Given the description of an element on the screen output the (x, y) to click on. 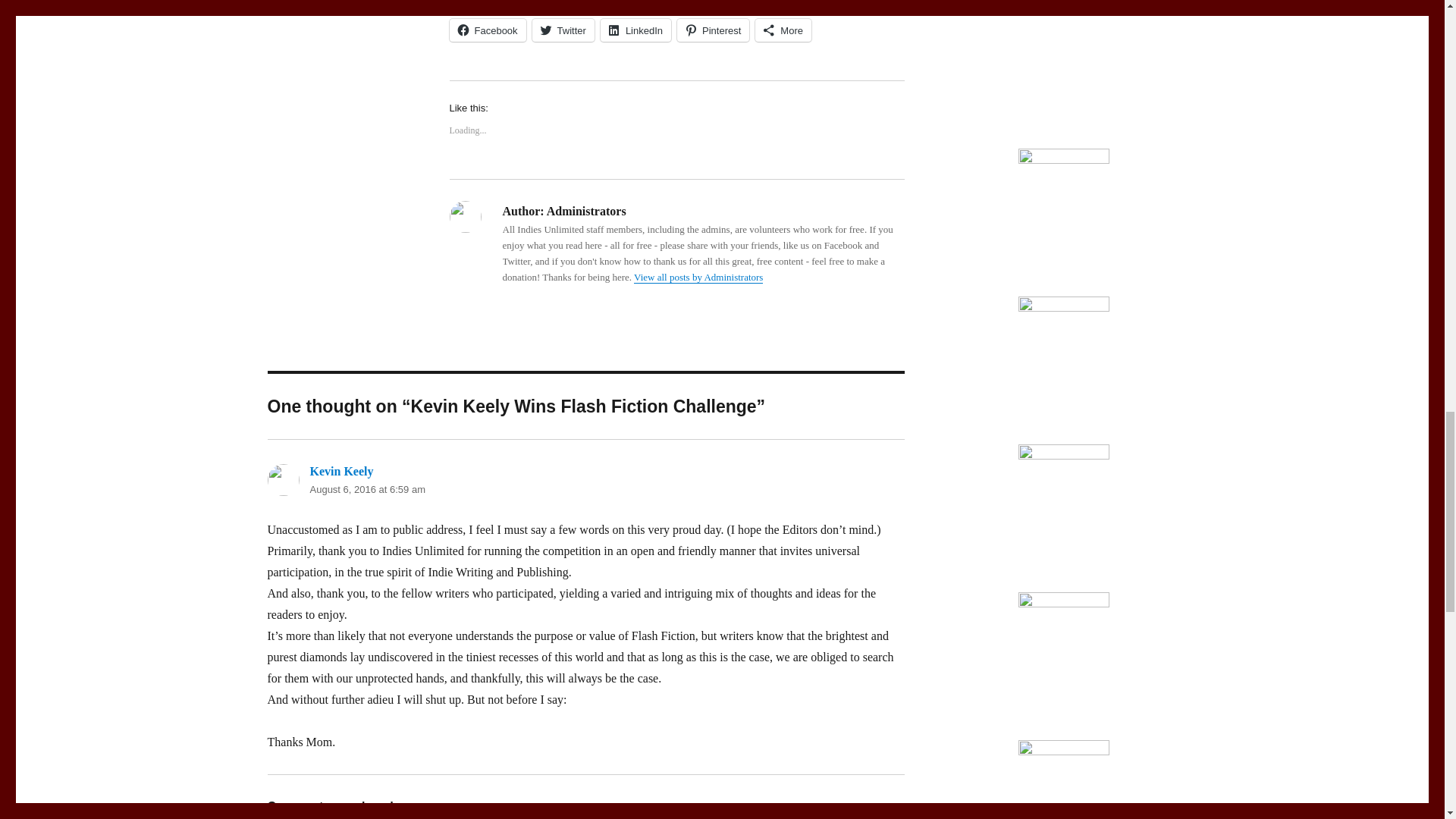
Click to share on Facebook (486, 29)
Click to share on Pinterest (713, 29)
Click to share on Twitter (563, 29)
Click to share on LinkedIn (635, 29)
